Given the description of an element on the screen output the (x, y) to click on. 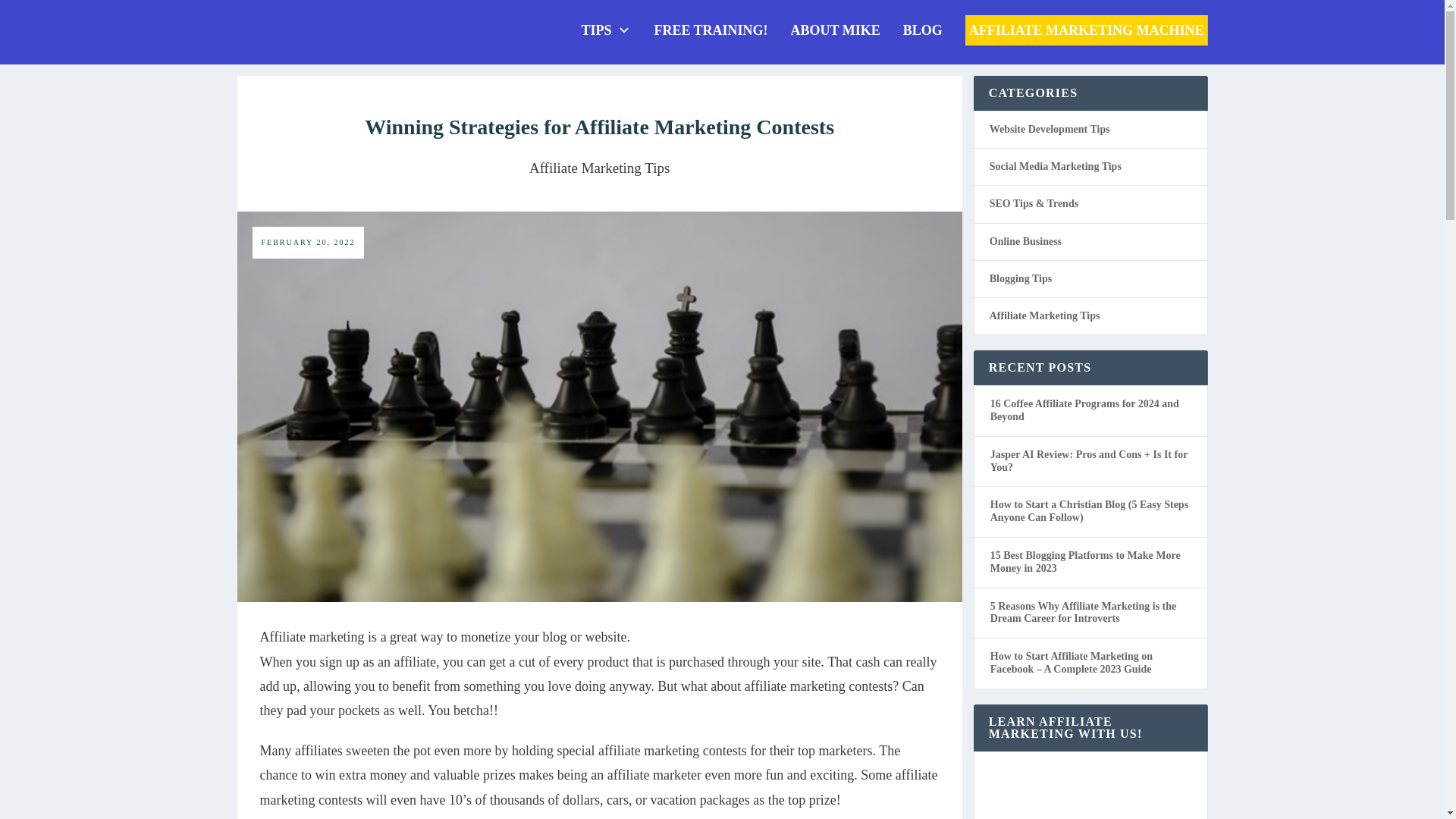
TIPS (605, 30)
Website Development Tips (1049, 129)
15 Best Blogging Platforms to Make More Money in 2023 (1085, 561)
ABOUT MIKE (835, 30)
Social Media Marketing Tips (1055, 166)
BLOG (922, 30)
16 Coffee Affiliate Programs for 2024 and Beyond (1084, 410)
Affiliate Marketing Tips (599, 167)
Winning Strategies for Affiliate Marketing Contests (599, 126)
